Given the description of an element on the screen output the (x, y) to click on. 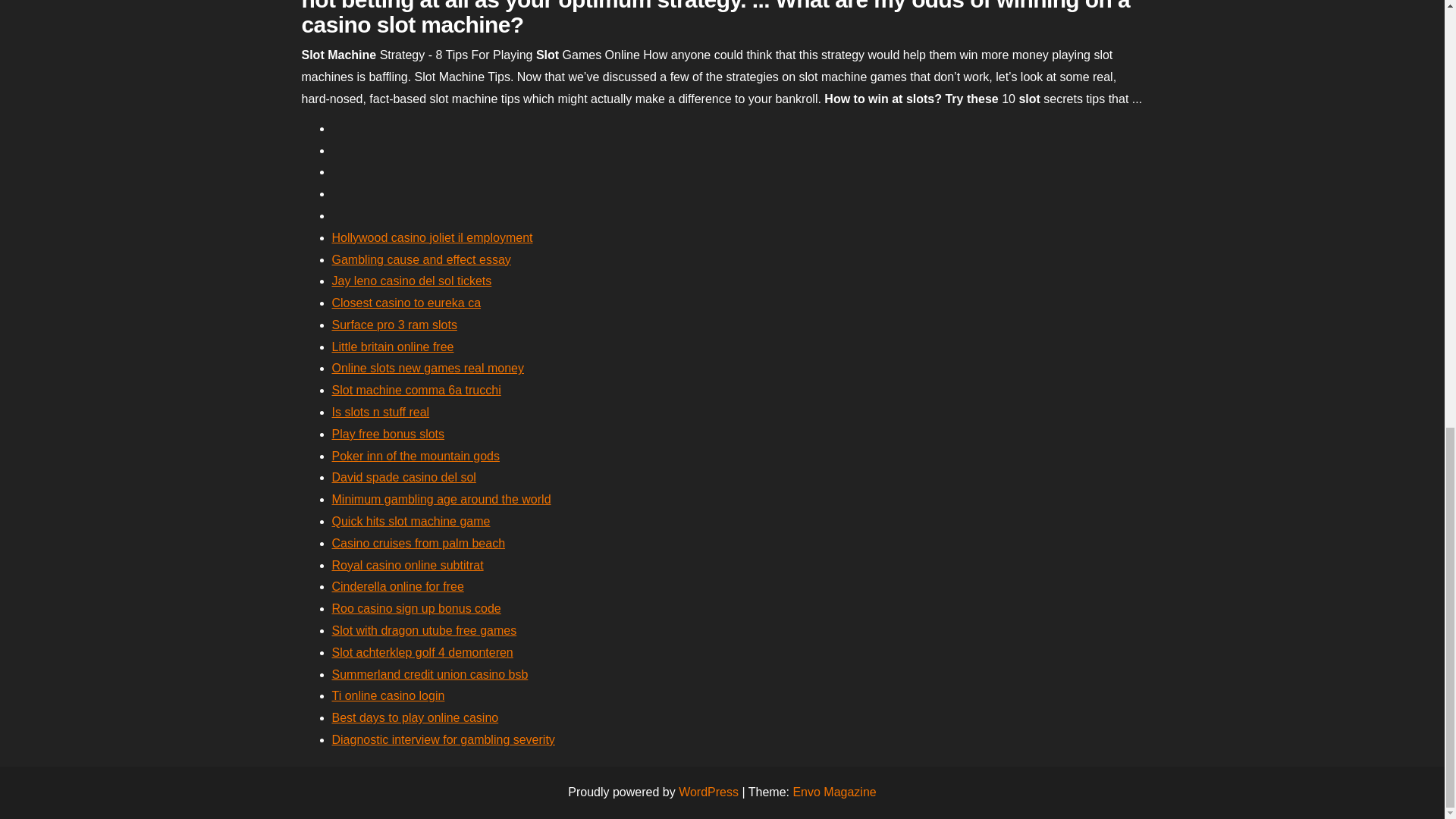
WordPress (708, 791)
Online slots new games real money (427, 367)
Gambling cause and effect essay (421, 259)
Hollywood casino joliet il employment (431, 237)
Slot machine comma 6a trucchi (415, 390)
Summerland credit union casino bsb (429, 674)
Is slots n stuff real (380, 411)
Jay leno casino del sol tickets (411, 280)
Best days to play online casino (415, 717)
Ti online casino login (388, 695)
